Given the description of an element on the screen output the (x, y) to click on. 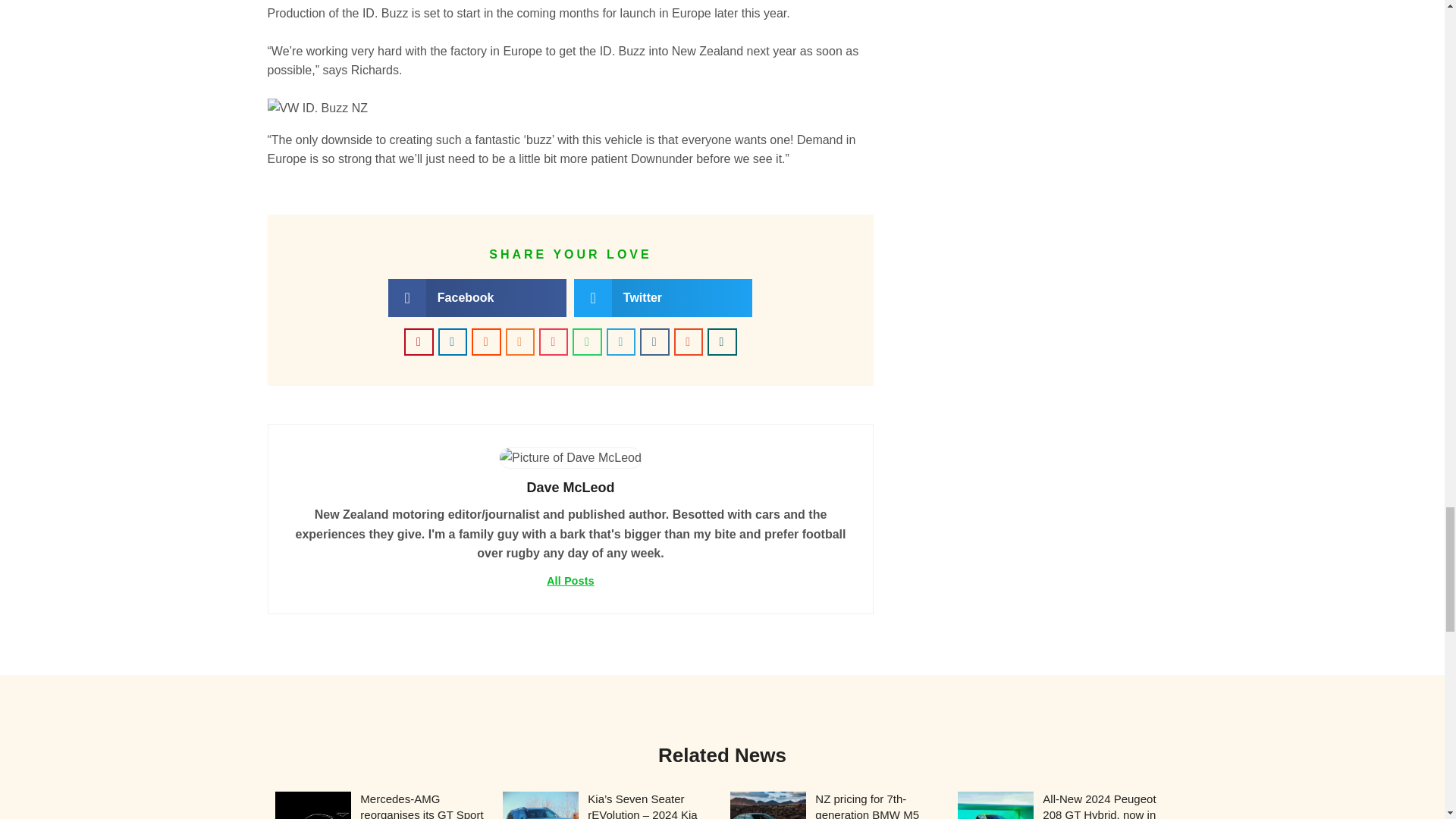
All Posts (570, 581)
